Given the description of an element on the screen output the (x, y) to click on. 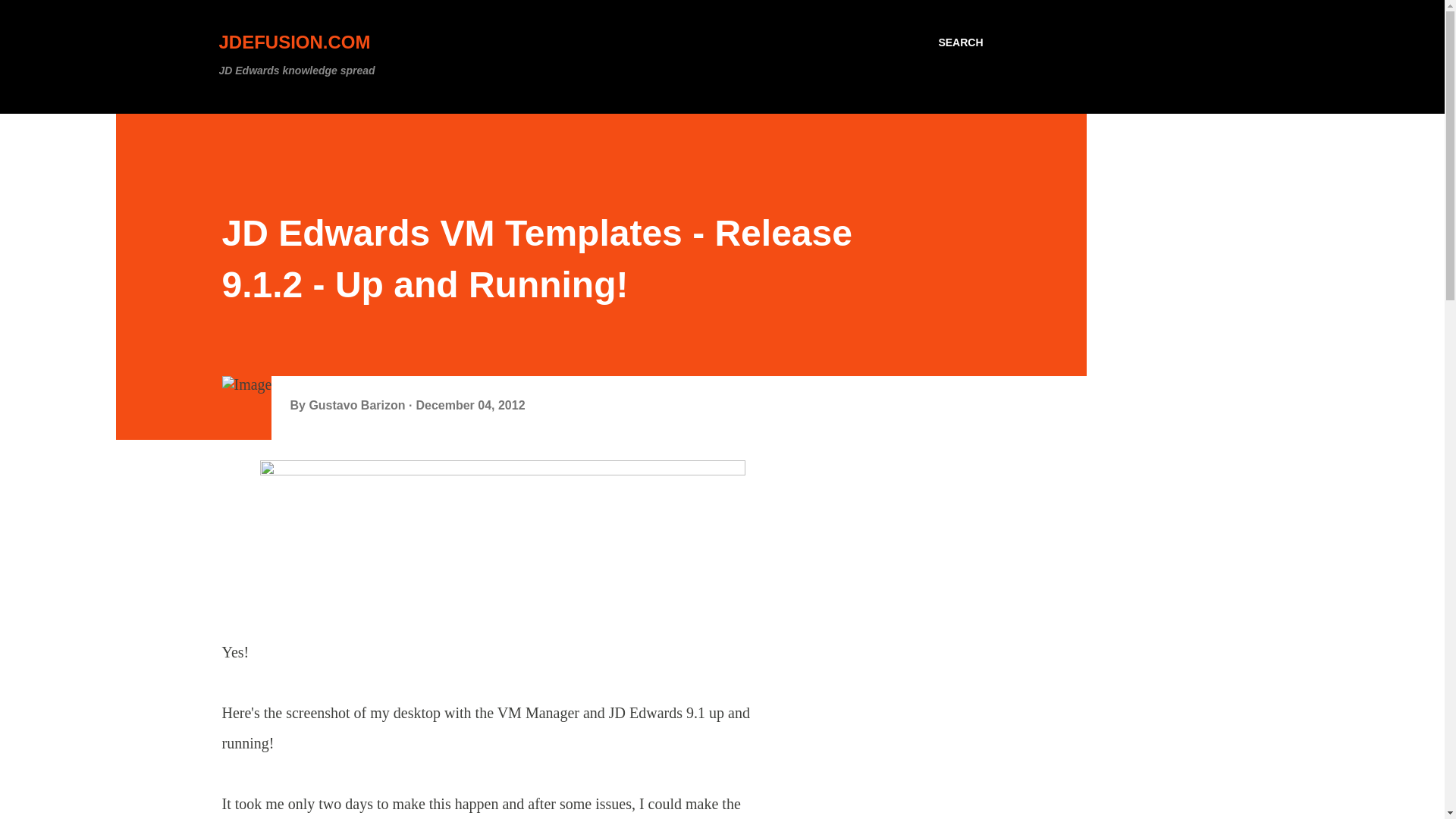
permanent link (469, 404)
author profile (358, 404)
December 04, 2012 (469, 404)
SEARCH (959, 42)
Gustavo Barizon (358, 404)
JDEFUSION.COM (293, 41)
